Given the description of an element on the screen output the (x, y) to click on. 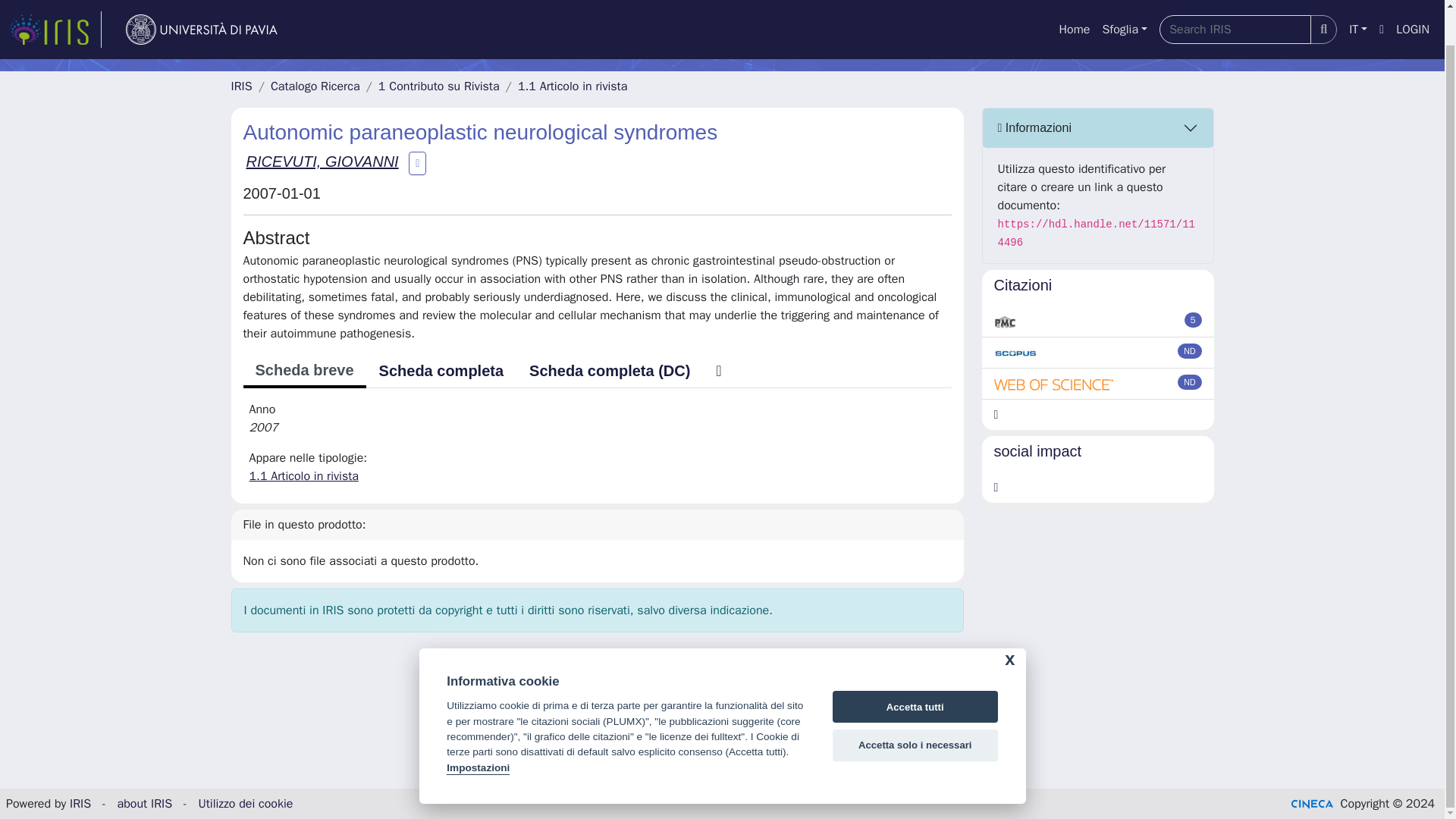
IT (1357, 4)
Scheda breve (304, 371)
aggiornato in data 07-07-2022 05:29 (1193, 319)
LOGIN (1412, 4)
Home (1074, 4)
about IRIS (145, 803)
1 Contributo su Rivista (438, 86)
 Informazioni (1097, 128)
1.1 Articolo in rivista (303, 476)
1.1 Articolo in rivista (572, 86)
